Given the description of an element on the screen output the (x, y) to click on. 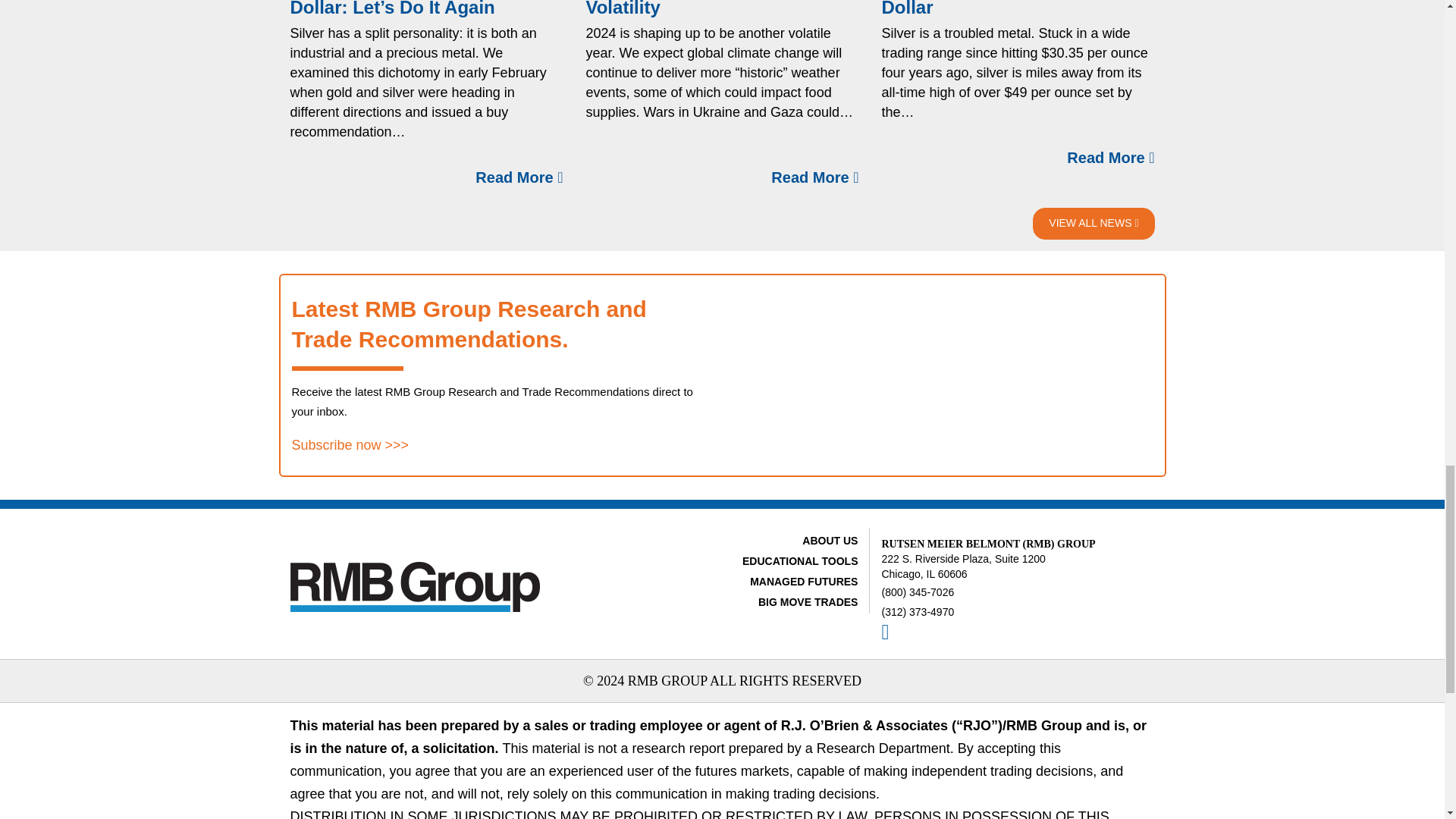
Read More (815, 177)
Silver for Pennies-on-the-Dollar (991, 8)
Read More (519, 177)
Form 0 (943, 375)
Read More (1110, 157)
ABOUT US (829, 540)
Prepare Your Portfolio for Volatility (696, 8)
